Given the description of an element on the screen output the (x, y) to click on. 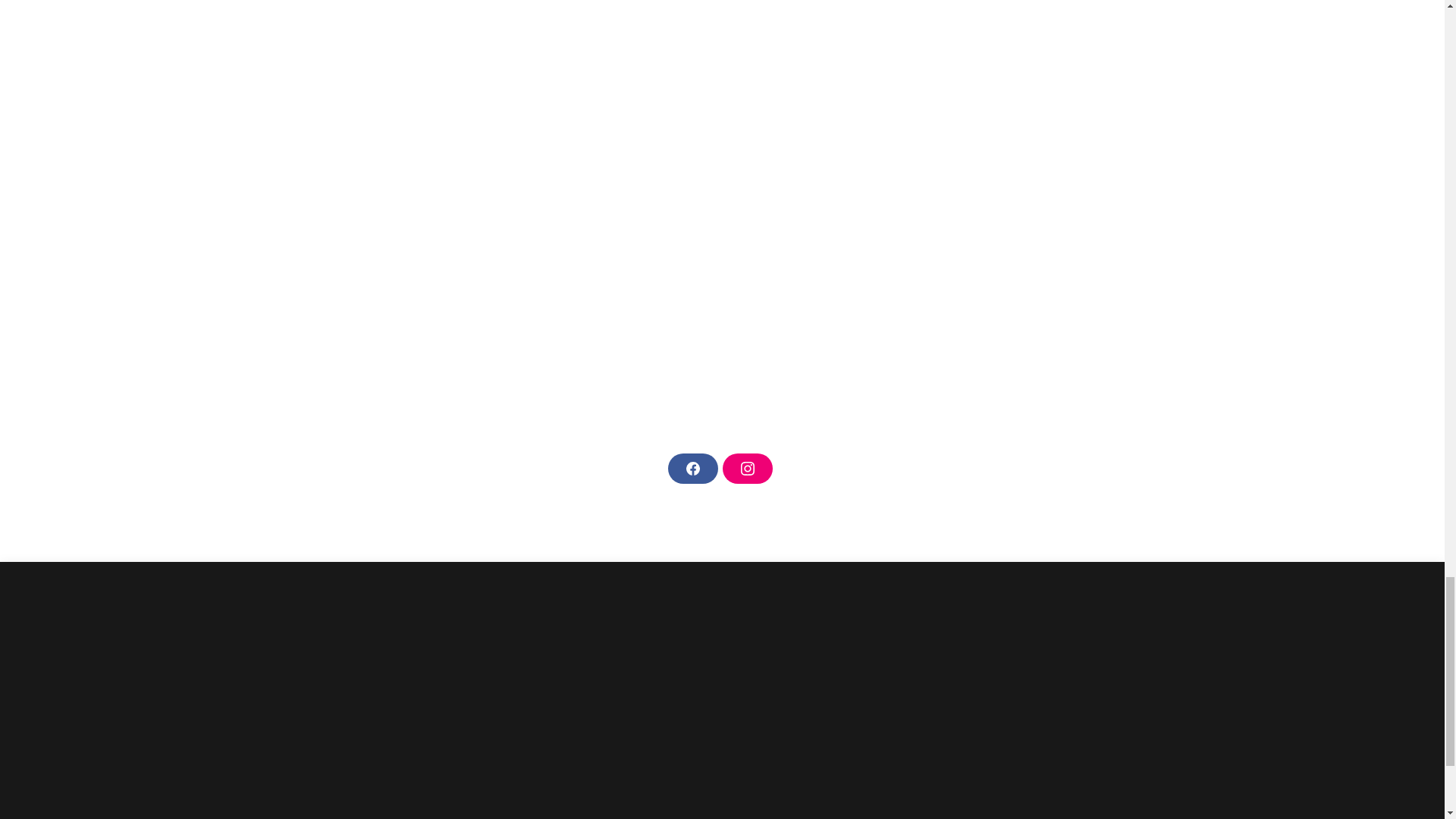
Instagram (746, 468)
Facebook (691, 468)
Facebook (691, 468)
Instagram (746, 468)
